Given the description of an element on the screen output the (x, y) to click on. 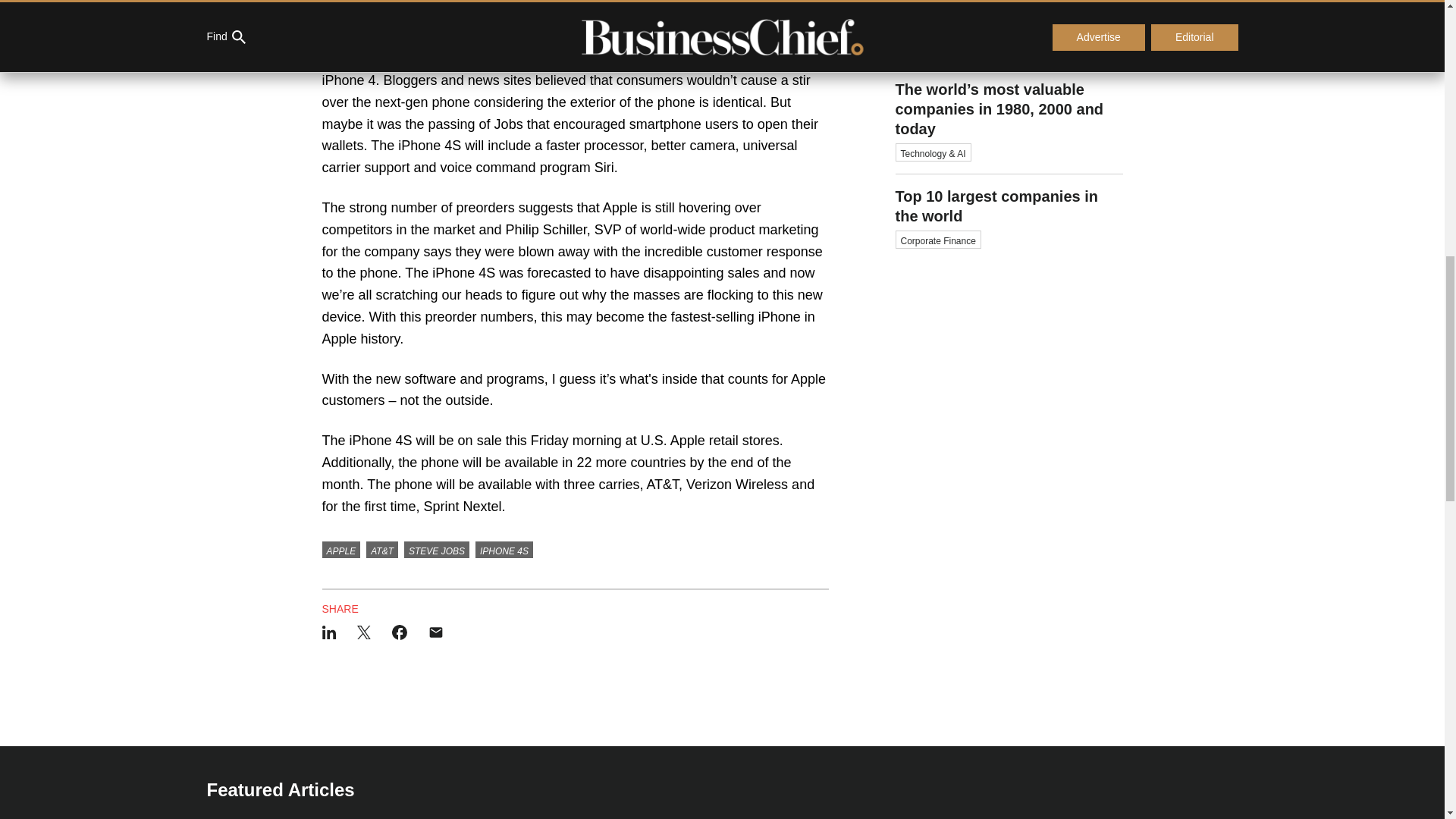
IPHONE 4S (504, 549)
APPLE (340, 549)
STEVE JOBS (436, 549)
Steve Jobs (759, 14)
iPhone 4S (1008, 33)
